Given the description of an element on the screen output the (x, y) to click on. 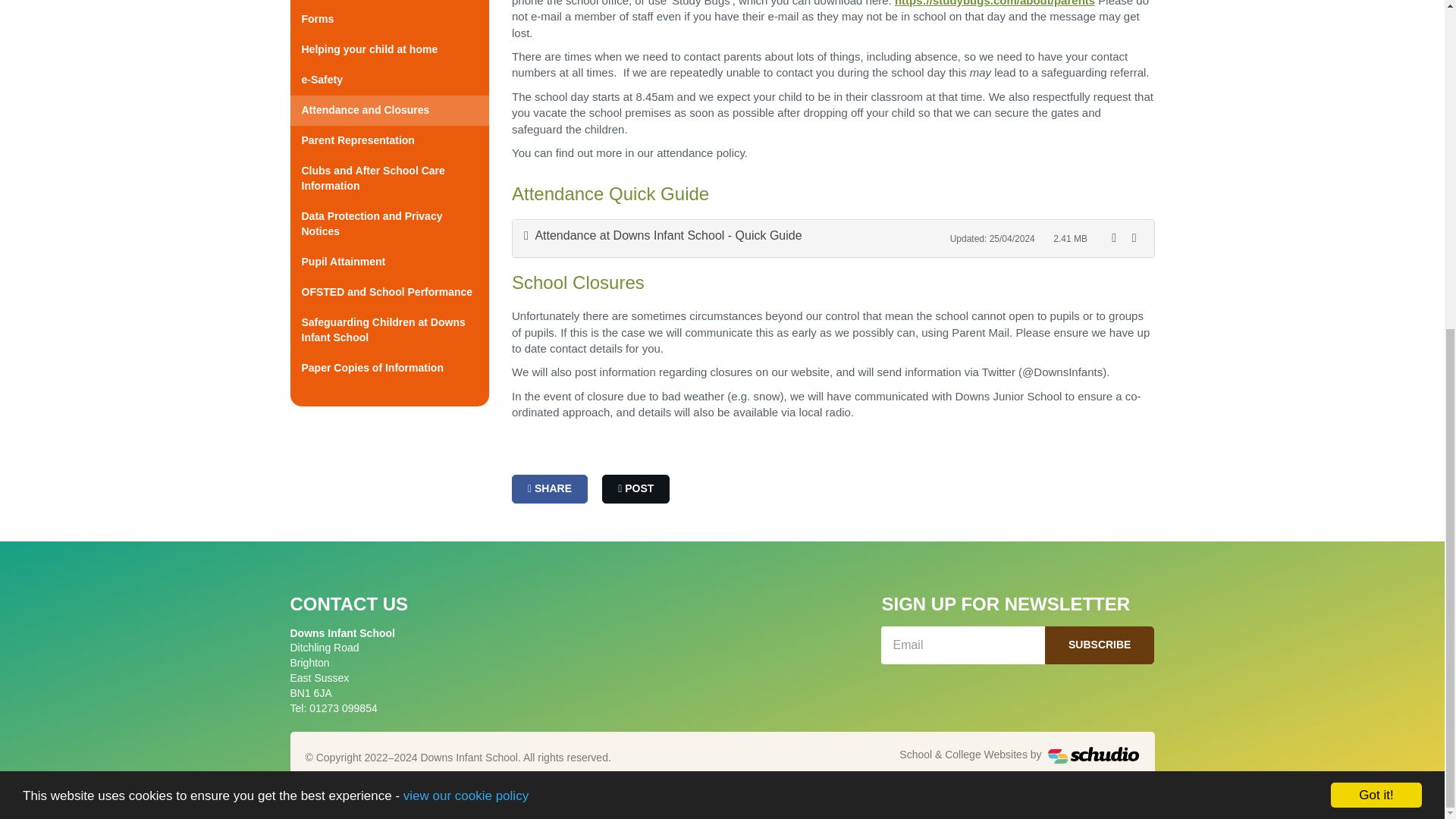
Share on Facebook (550, 489)
Post on X (635, 489)
